Given the description of an element on the screen output the (x, y) to click on. 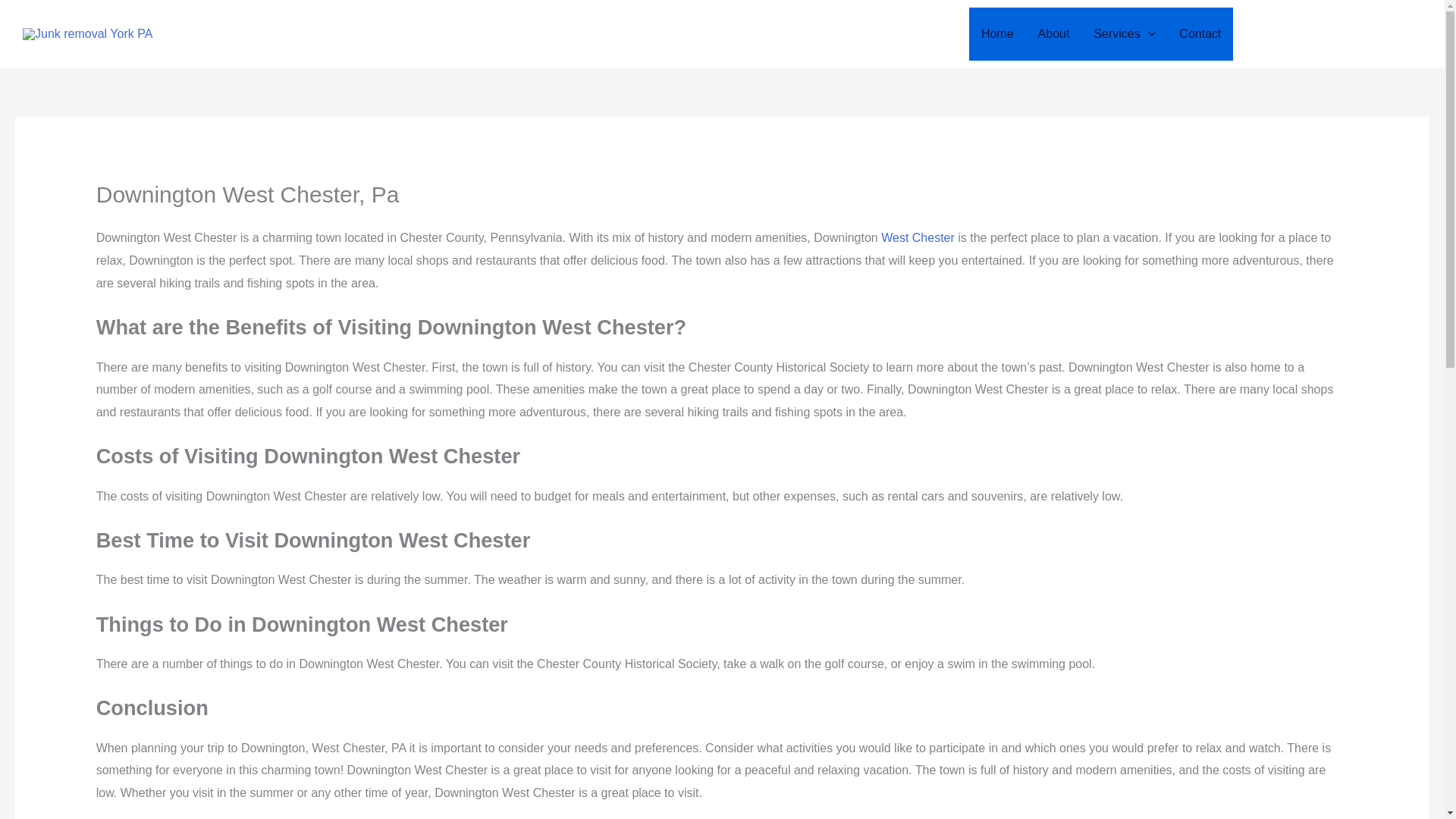
Services (1124, 33)
West Chester (917, 237)
Contact (1200, 33)
Home (997, 33)
About (1053, 33)
